Given the description of an element on the screen output the (x, y) to click on. 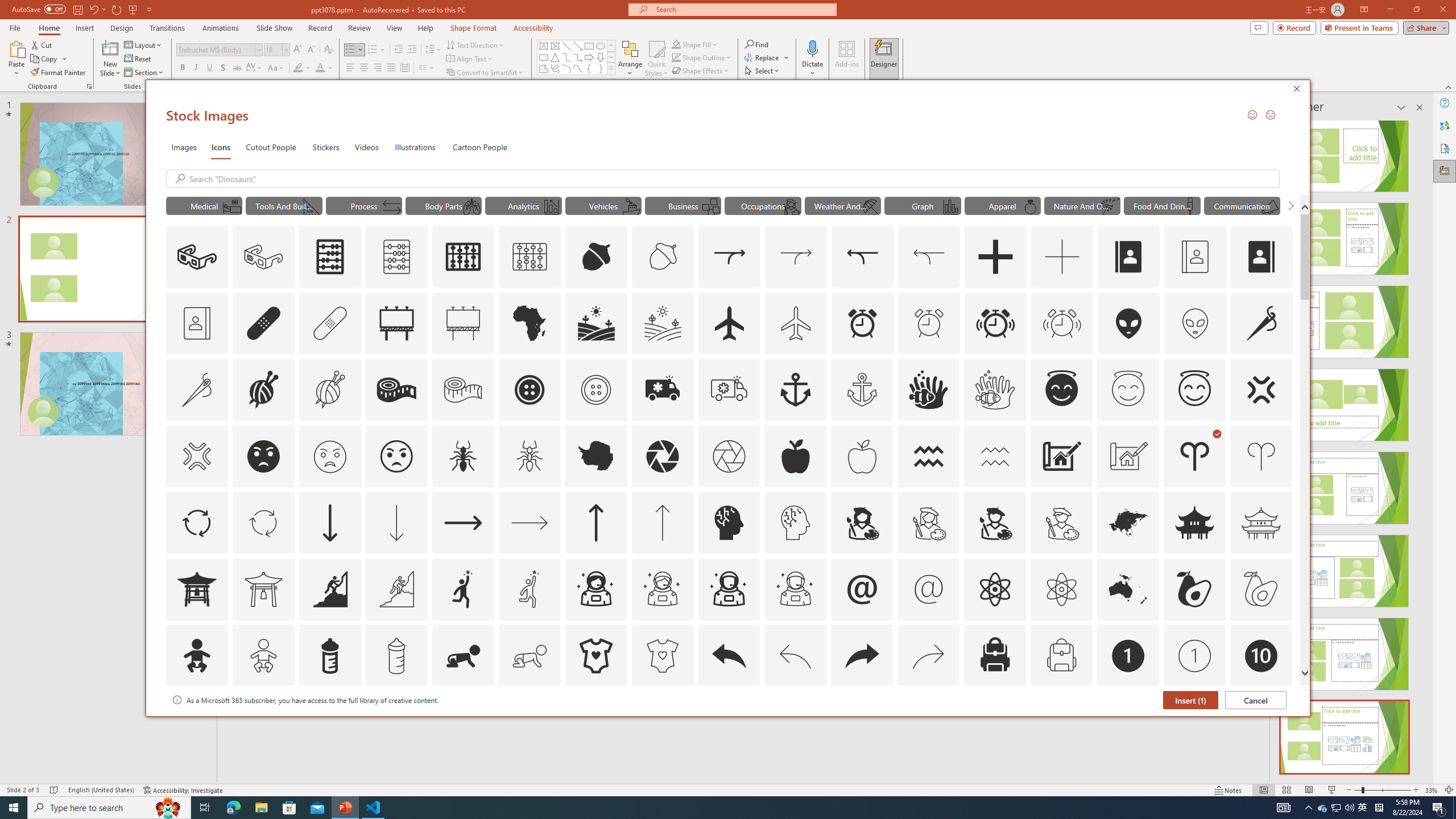
AutomationID: Icons_PostitNotes1_M (710, 206)
AutomationID: Icons_AlarmClock_M (928, 323)
Action Center, 1 new notification (1439, 807)
AutomationID: Icons_ArrowDown (329, 522)
AutomationID: Icons_Badge2_M (329, 721)
AutomationID: Icons_Abacus_M (397, 256)
AutomationID: Icons_AlterationsTailoring2 (395, 389)
